Given the description of an element on the screen output the (x, y) to click on. 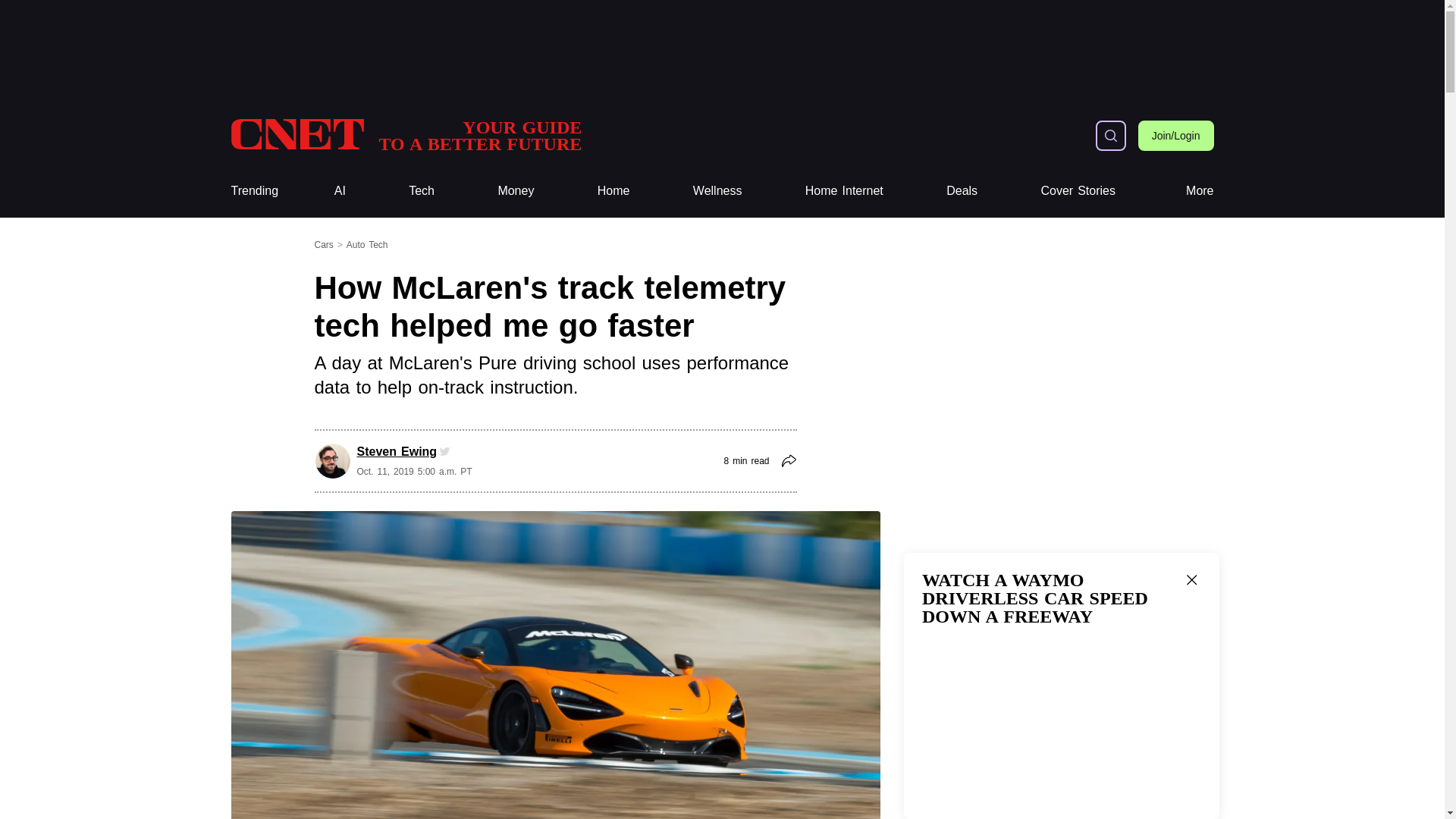
Home (613, 190)
Deals (961, 190)
Home Internet (844, 190)
More (1199, 190)
Home Internet (405, 135)
Wellness (844, 190)
Wellness (717, 190)
Trending (717, 190)
Tech (254, 190)
